Given the description of an element on the screen output the (x, y) to click on. 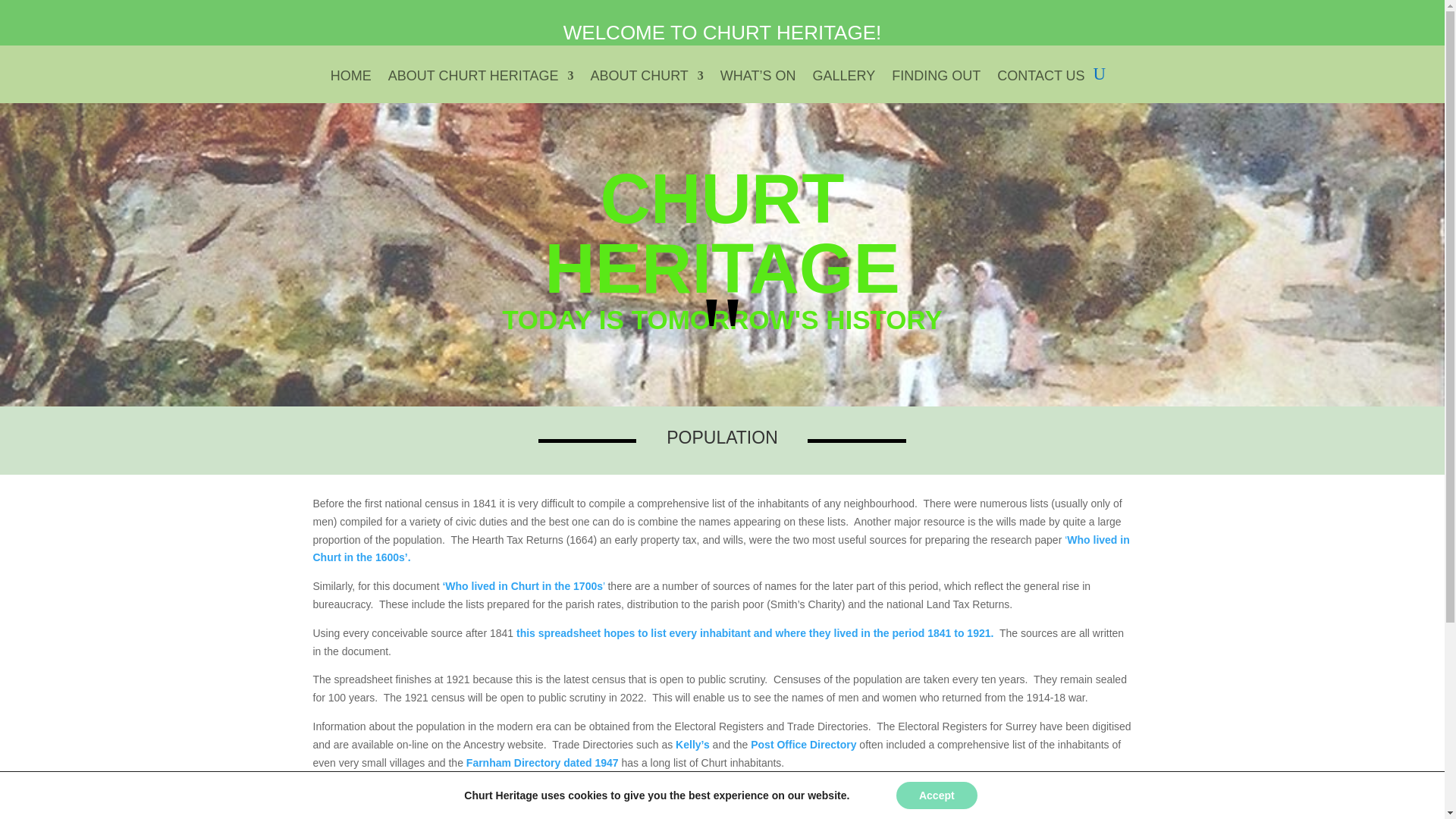
HOME (350, 86)
ABOUT CHURT HERITAGE (480, 86)
FINDING OUT (935, 86)
CONTACT US (1040, 86)
ABOUT CHURT (646, 86)
GALLERY (844, 86)
